Given the description of an element on the screen output the (x, y) to click on. 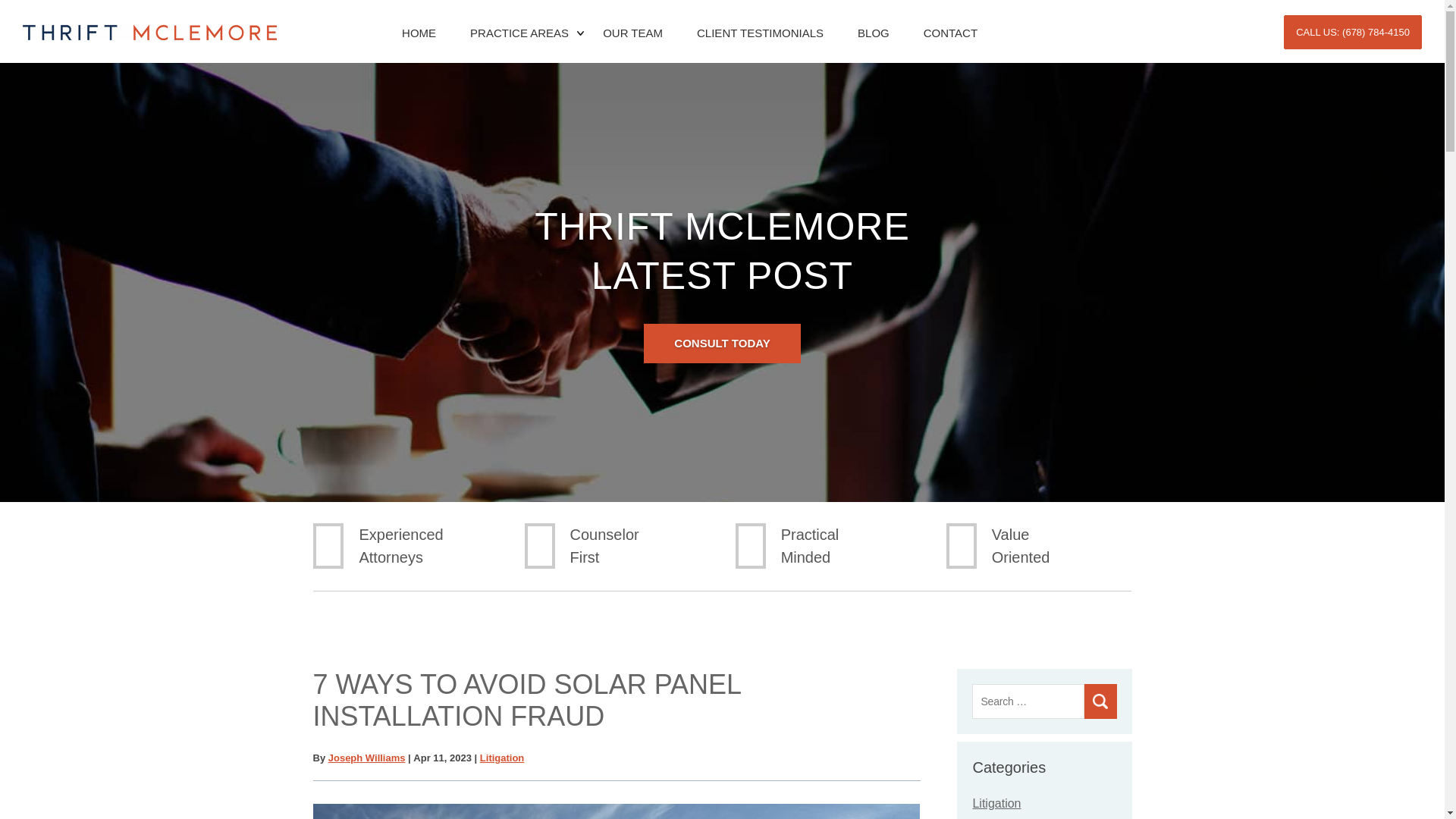
PRACTICE AREAS (517, 39)
Search (1100, 701)
HOME (416, 39)
Search (1100, 701)
